Given the description of an element on the screen output the (x, y) to click on. 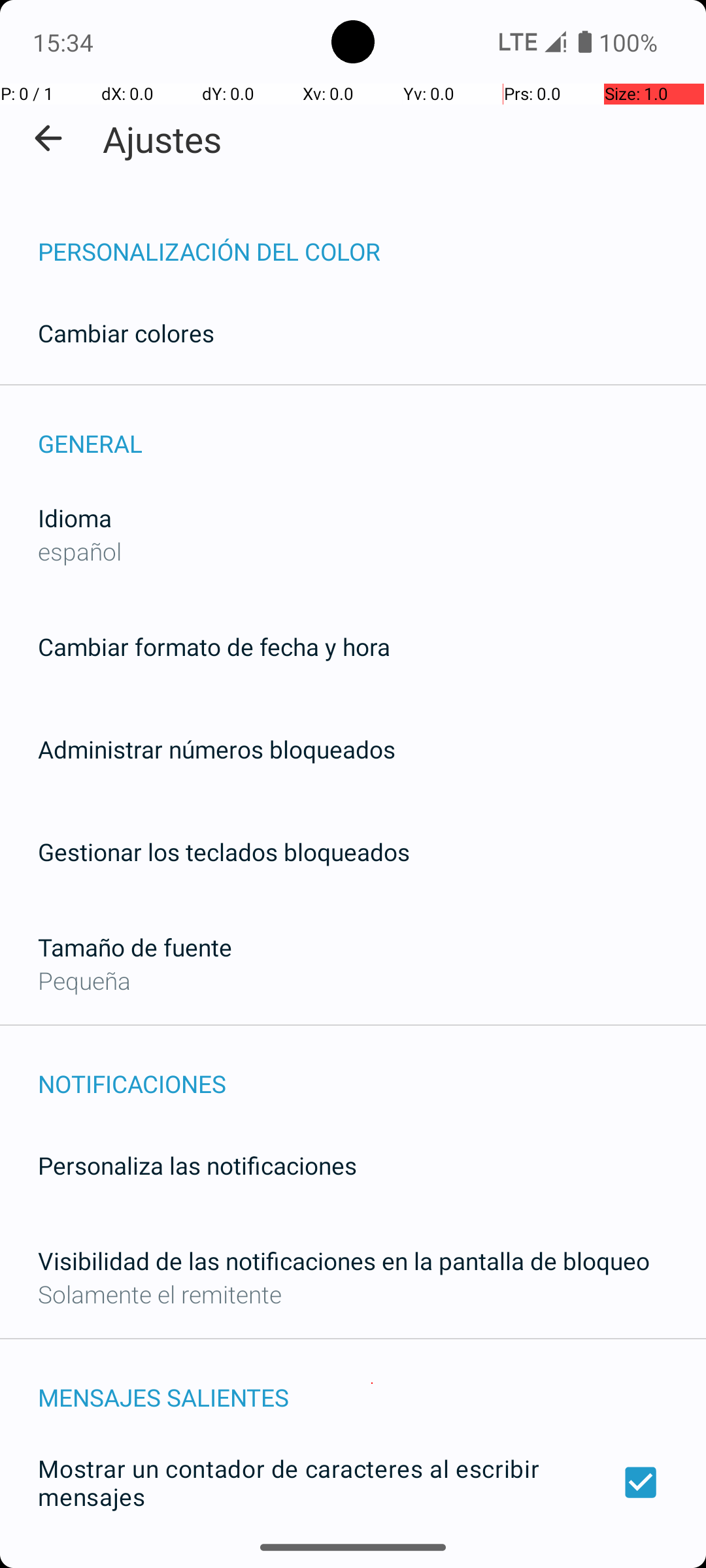
NOTIFICACIONES Element type: android.widget.TextView (371, 1069)
MENSAJES SALIENTES Element type: android.widget.TextView (371, 1383)
Cambiar formato de fecha y hora Element type: android.widget.TextView (213, 646)
Administrar números bloqueados Element type: android.widget.TextView (216, 748)
Gestionar los teclados bloqueados Element type: android.widget.TextView (223, 851)
Tamaño de fuente Element type: android.widget.TextView (134, 946)
Pequeña Element type: android.widget.TextView (83, 979)
Visibilidad de las notificaciones en la pantalla de bloqueo Element type: android.widget.TextView (343, 1260)
Solamente el remitente Element type: android.widget.TextView (159, 1293)
Mostrar un contador de caracteres al escribir mensajes Element type: android.widget.CheckBox (352, 1482)
Elimina los acentos y signos diacríticos al enviar mensajes Element type: android.widget.CheckBox (352, 1559)
